Given the description of an element on the screen output the (x, y) to click on. 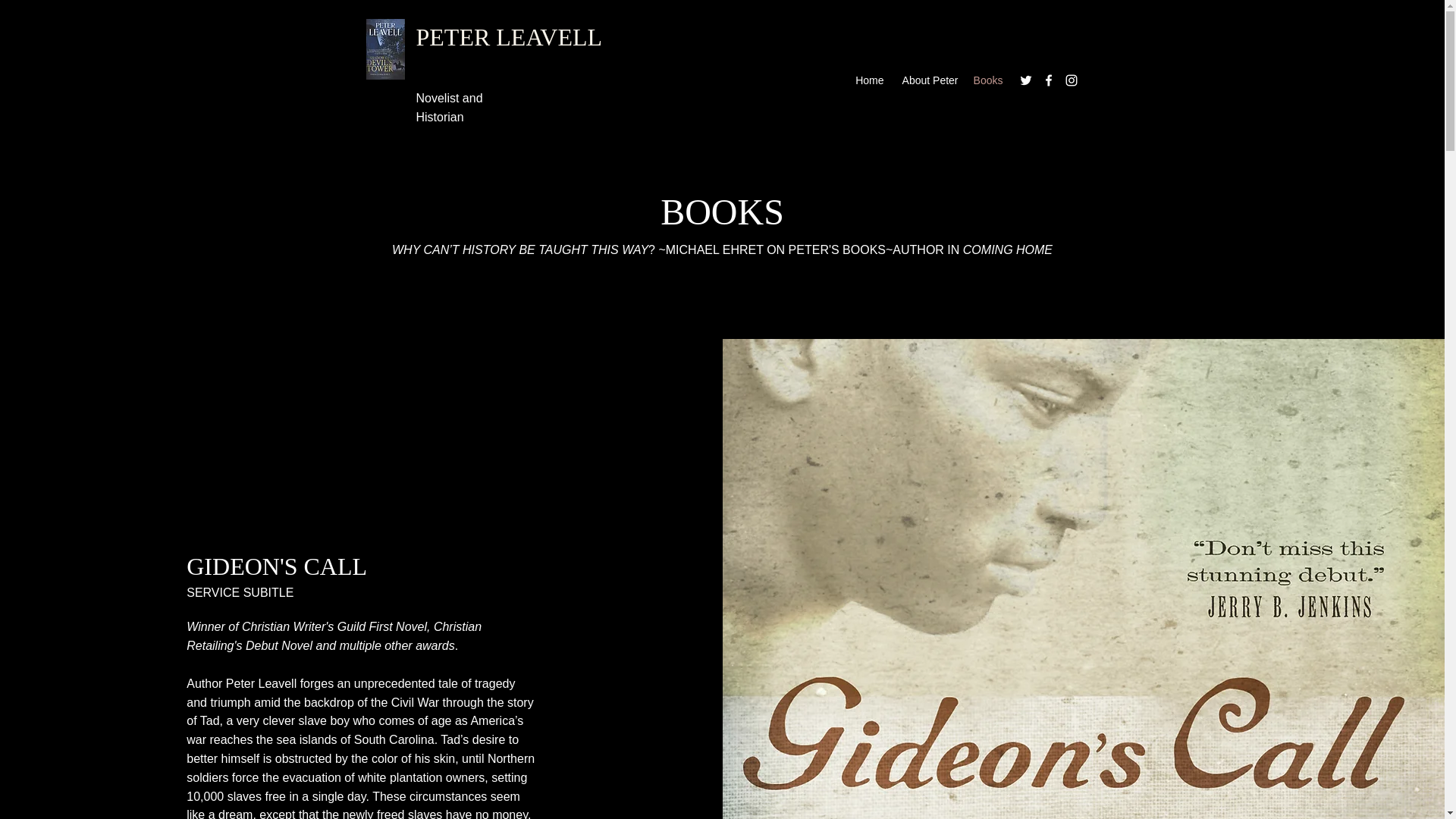
About Peter (928, 79)
Home (868, 79)
Books (988, 79)
